Given the description of an element on the screen output the (x, y) to click on. 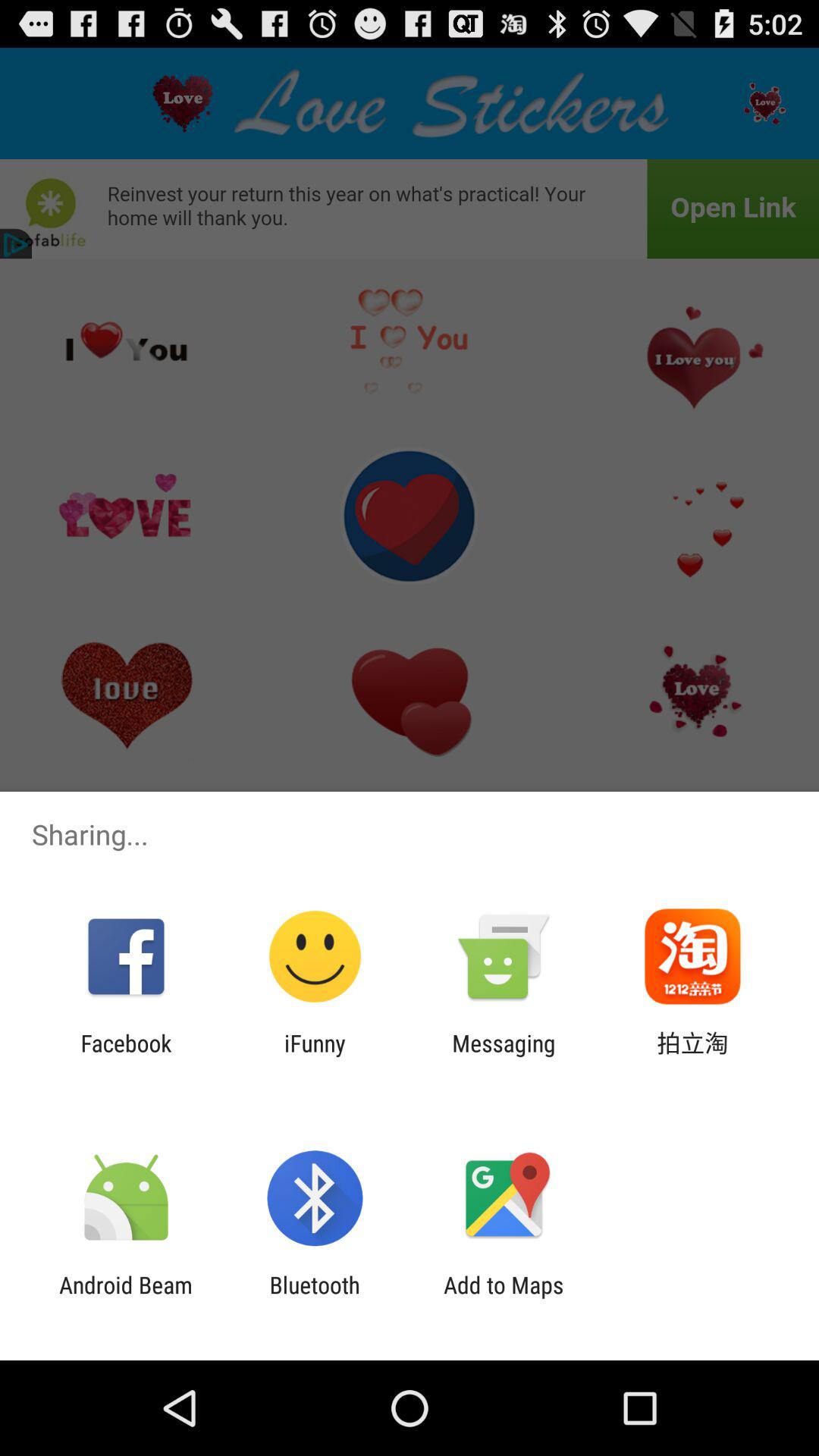
choose item next to the ifunny item (125, 1056)
